Given the description of an element on the screen output the (x, y) to click on. 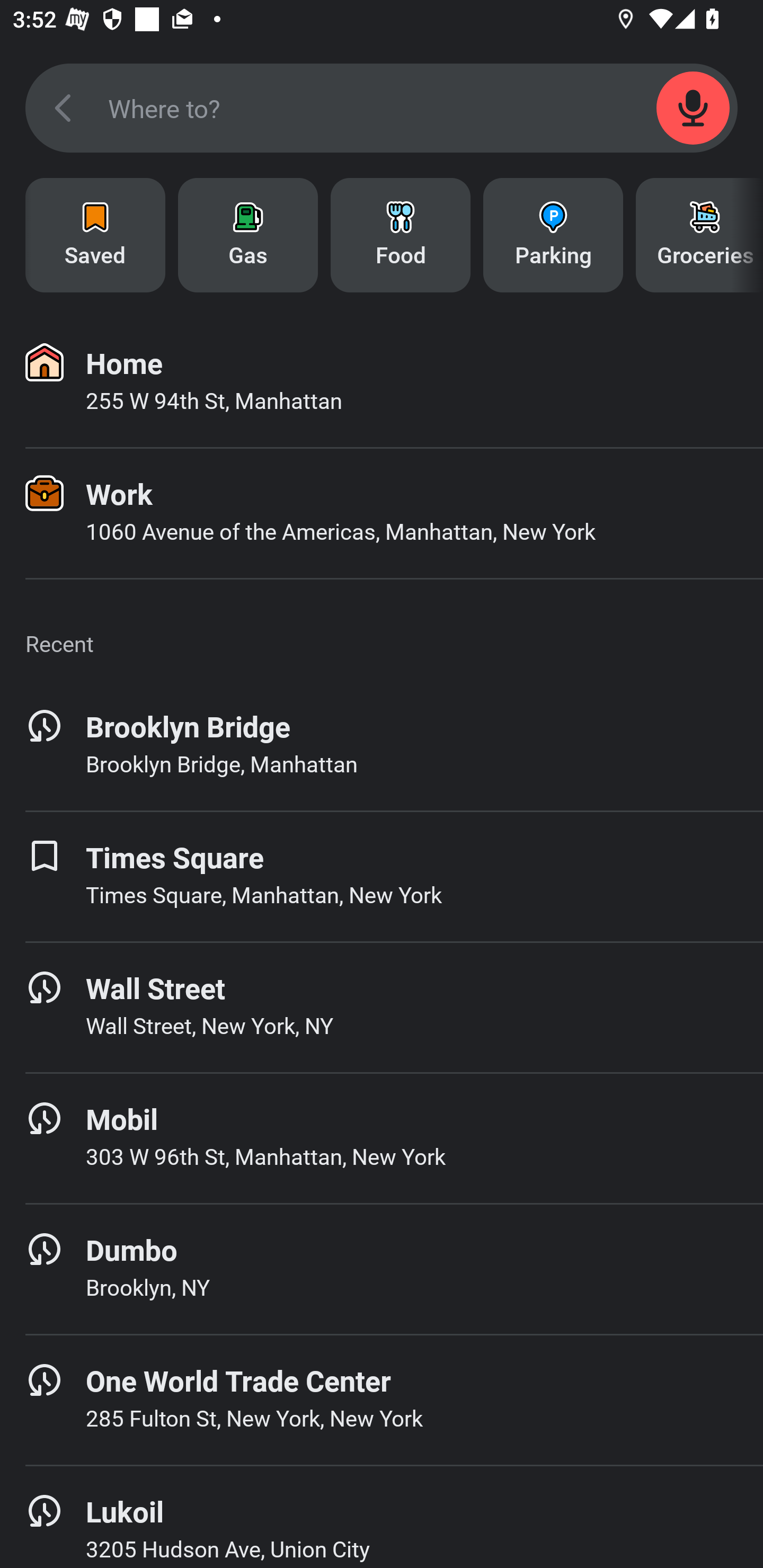
SEARCH_SCREEN_SEARCH_FIELD Where to? (381, 108)
Saved (95, 234)
Gas (247, 234)
Food (400, 234)
Parking (552, 234)
Groceries (699, 234)
Home 255 W 94th St, Manhattan (381, 382)
Brooklyn Bridge Brooklyn Bridge, Manhattan (381, 745)
Times Square Times Square, Manhattan, New York (381, 876)
Wall Street Wall Street, New York, NY (381, 1007)
Mobil 303 W 96th St, Manhattan, New York (381, 1138)
Dumbo Brooklyn, NY (381, 1269)
Lukoil 3205 Hudson Ave, Union City (381, 1517)
